Given the description of an element on the screen output the (x, y) to click on. 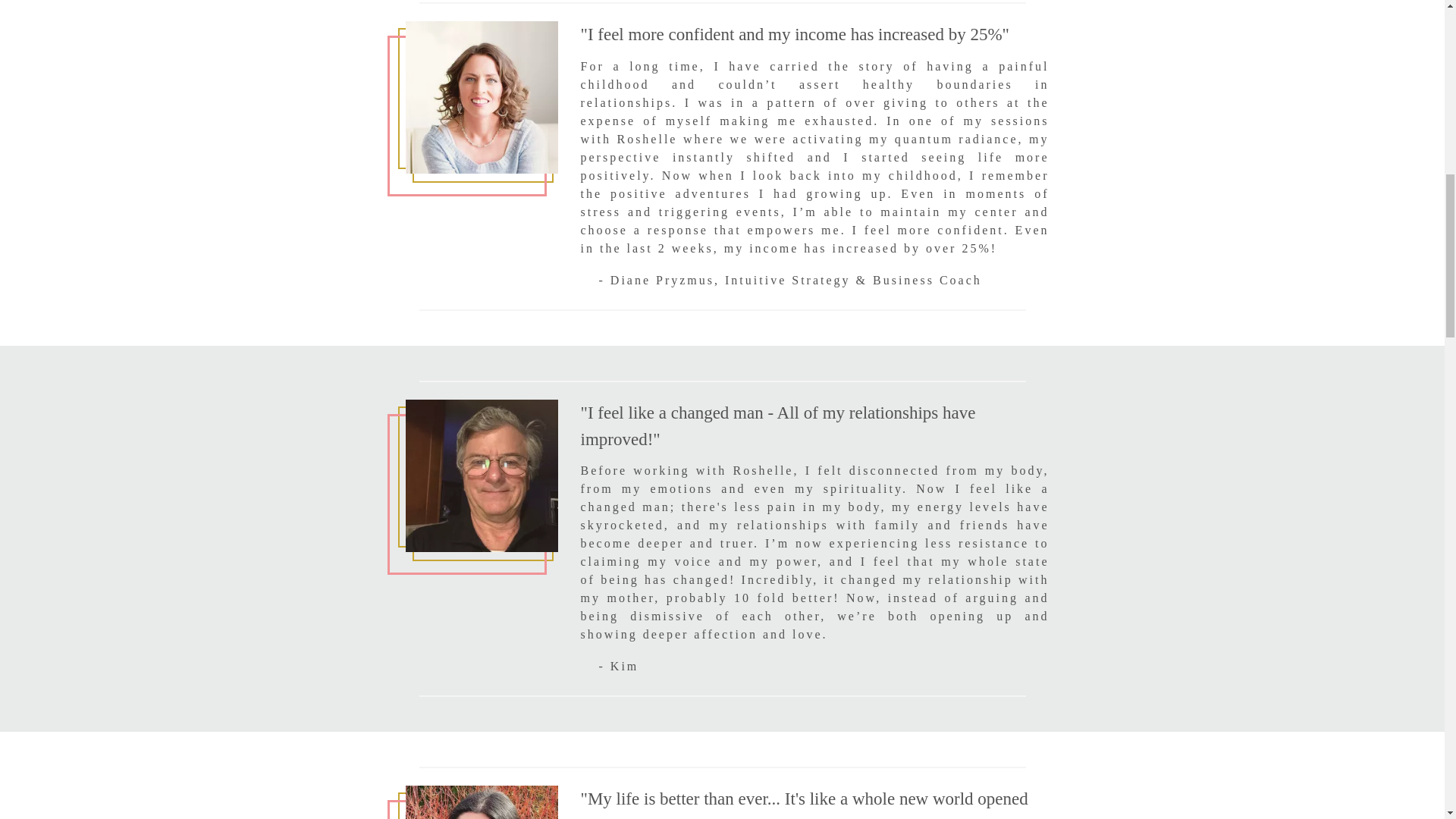
0 (480, 802)
0 (480, 475)
0 (480, 97)
